Given the description of an element on the screen output the (x, y) to click on. 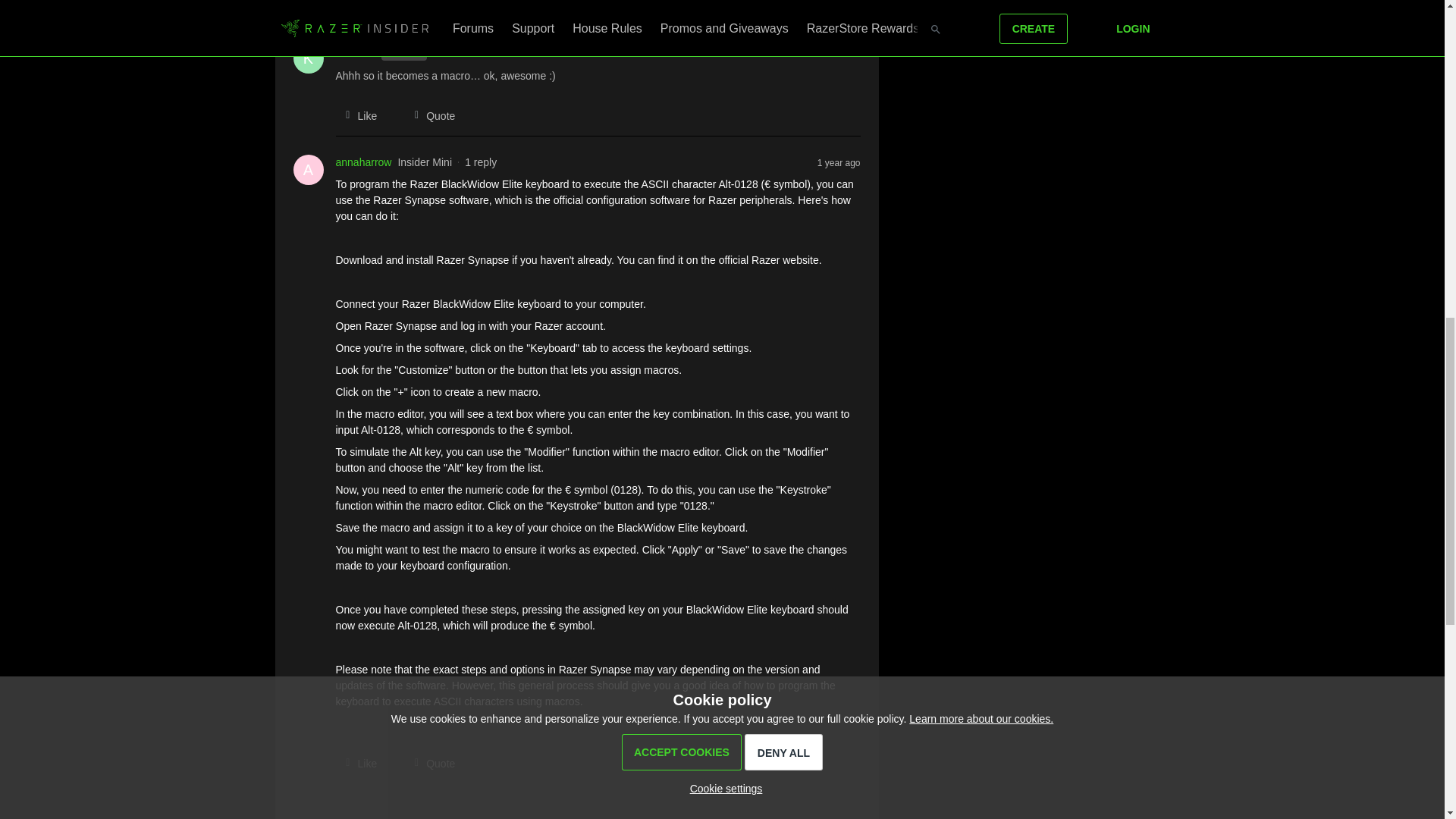
annaharrow (362, 162)
kollbrian (354, 50)
Quote (429, 6)
K (307, 58)
Like (355, 6)
